Given the description of an element on the screen output the (x, y) to click on. 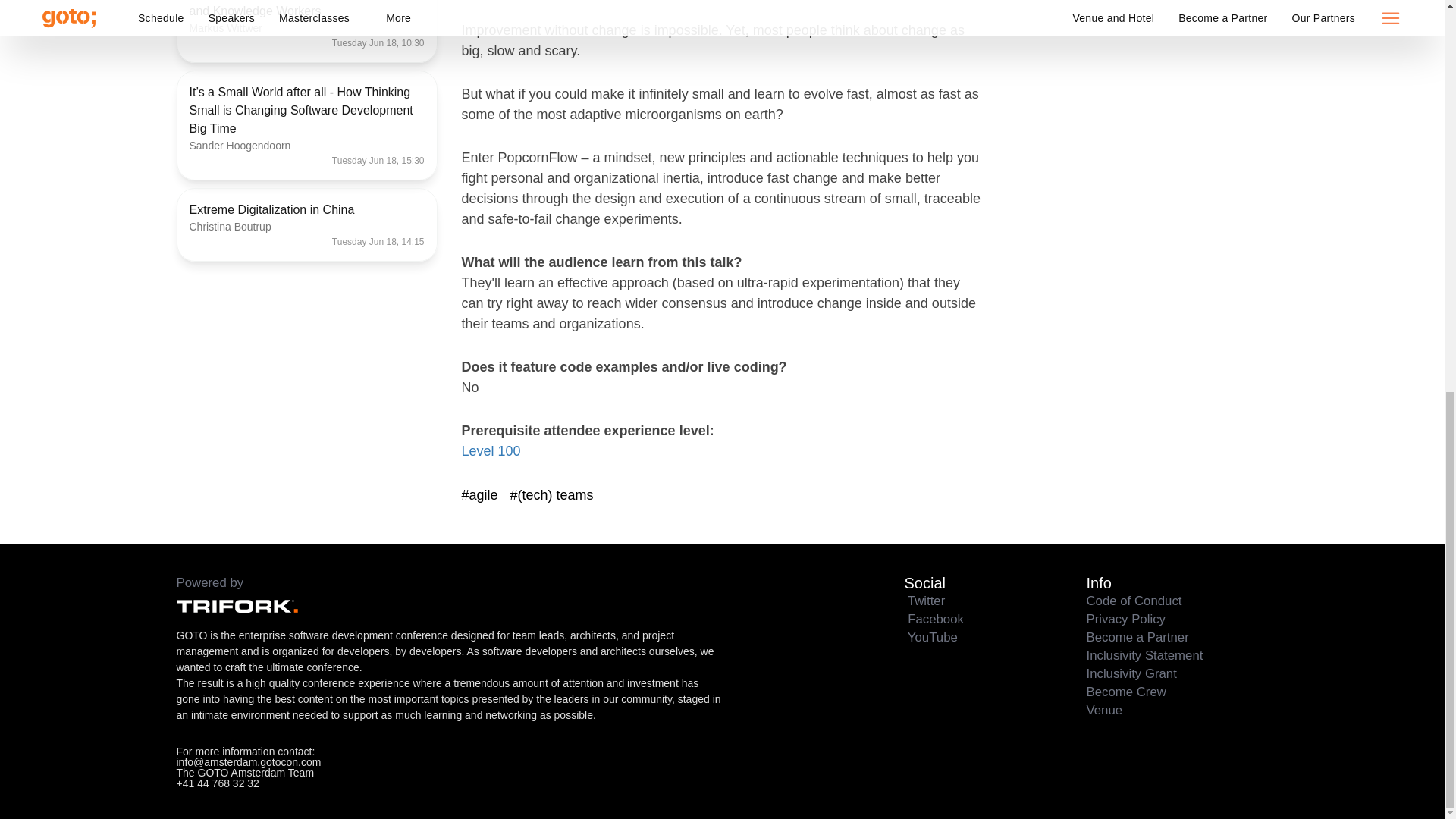
Level 100 (490, 450)
